Given the description of an element on the screen output the (x, y) to click on. 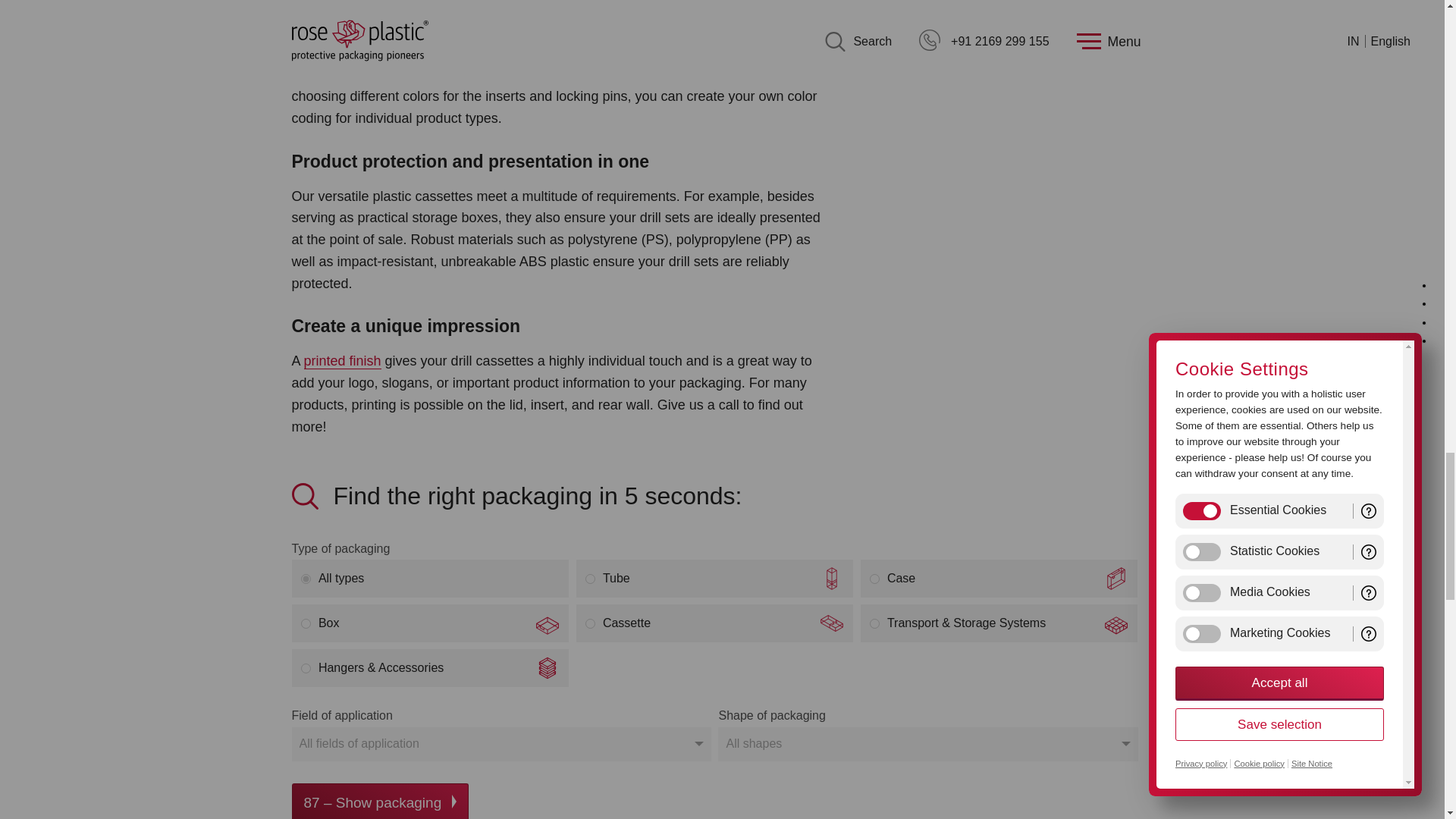
Case (874, 578)
Box (306, 623)
Cassette (590, 623)
Tube (590, 578)
